Given the description of an element on the screen output the (x, y) to click on. 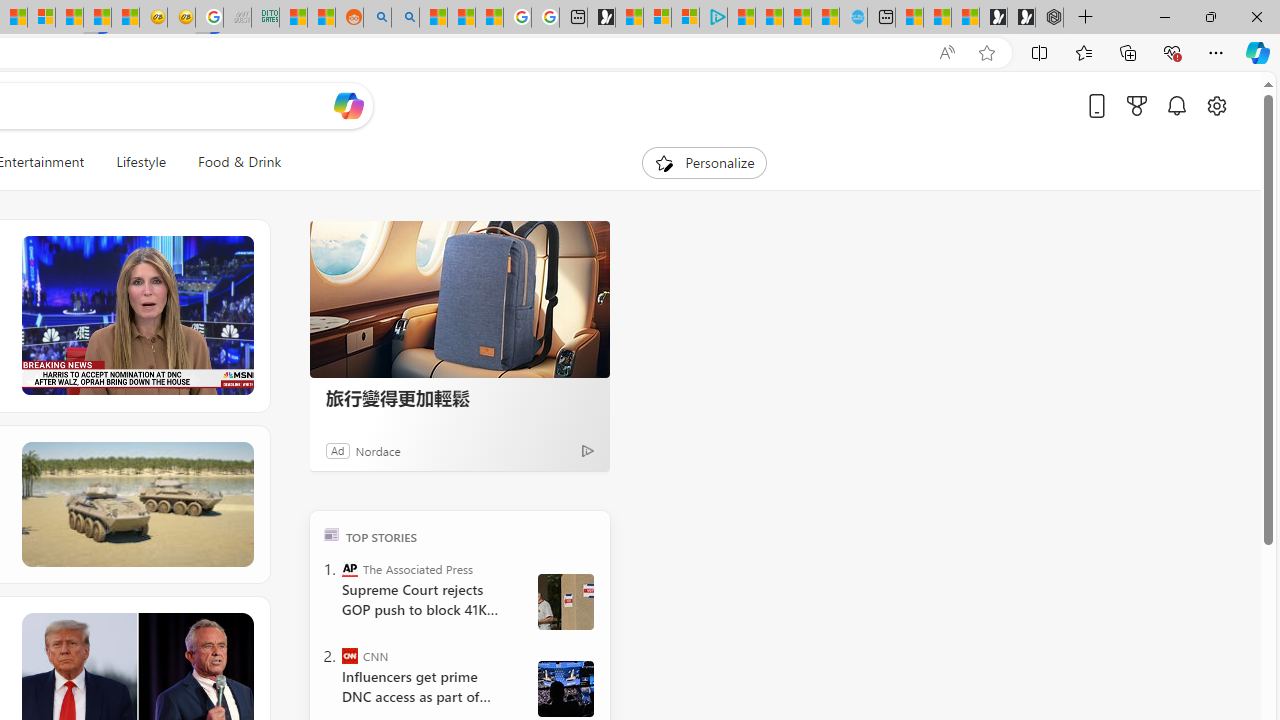
Ad Choice (587, 449)
TOP (331, 534)
The Associated Press (349, 568)
MSNBC - MSN (293, 17)
Food & Drink (239, 162)
Play Free Online Games | Games from Microsoft Start (1021, 17)
